Given the description of an element on the screen output the (x, y) to click on. 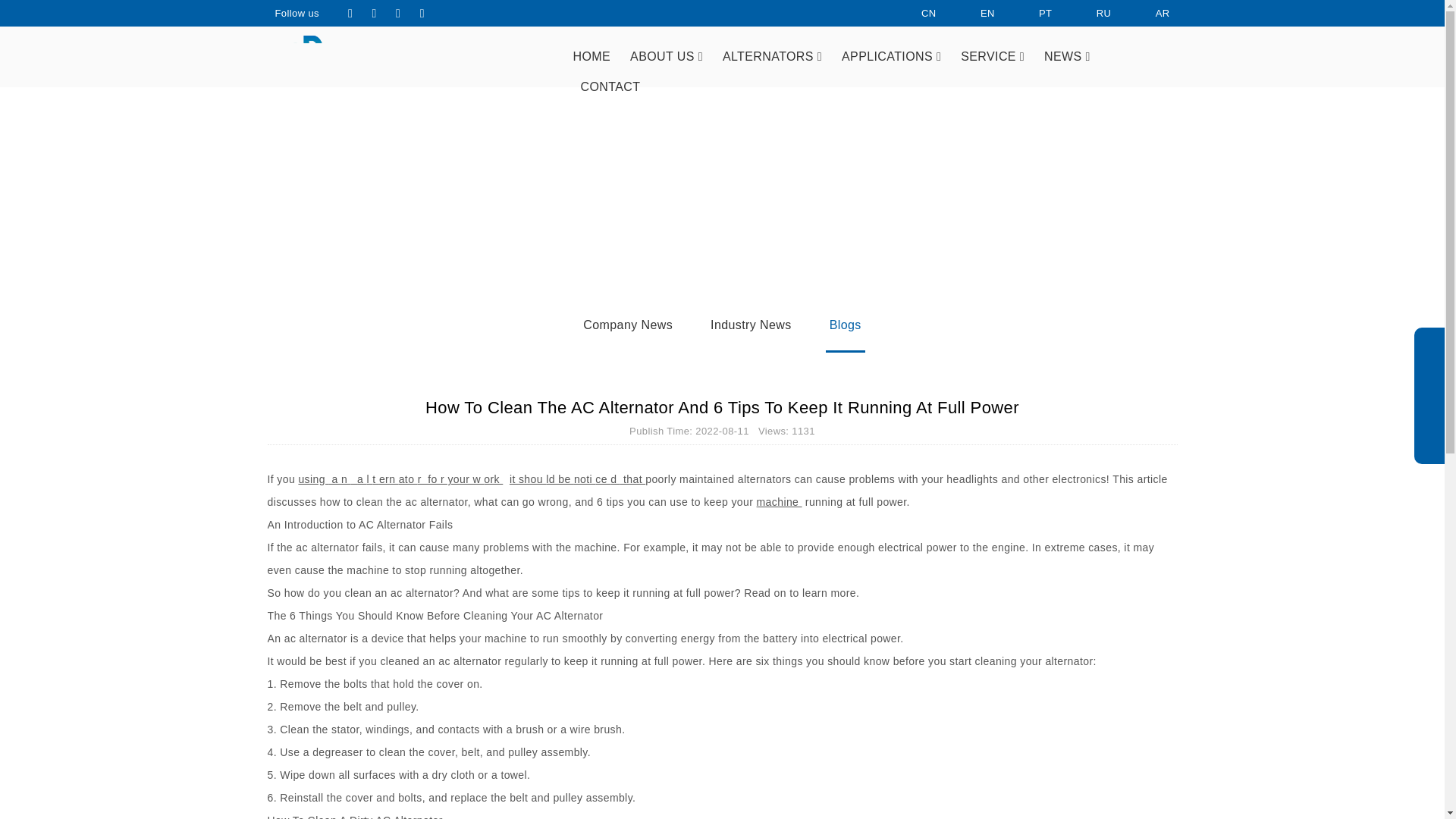
RU (1091, 13)
SERVICE (991, 56)
ALTERNATORS (772, 56)
EvoTec Power (376, 62)
EN (974, 13)
PT (1032, 13)
ABOUT US (666, 56)
AR (1149, 13)
HOME (591, 56)
APPLICATIONS (890, 56)
